Given the description of an element on the screen output the (x, y) to click on. 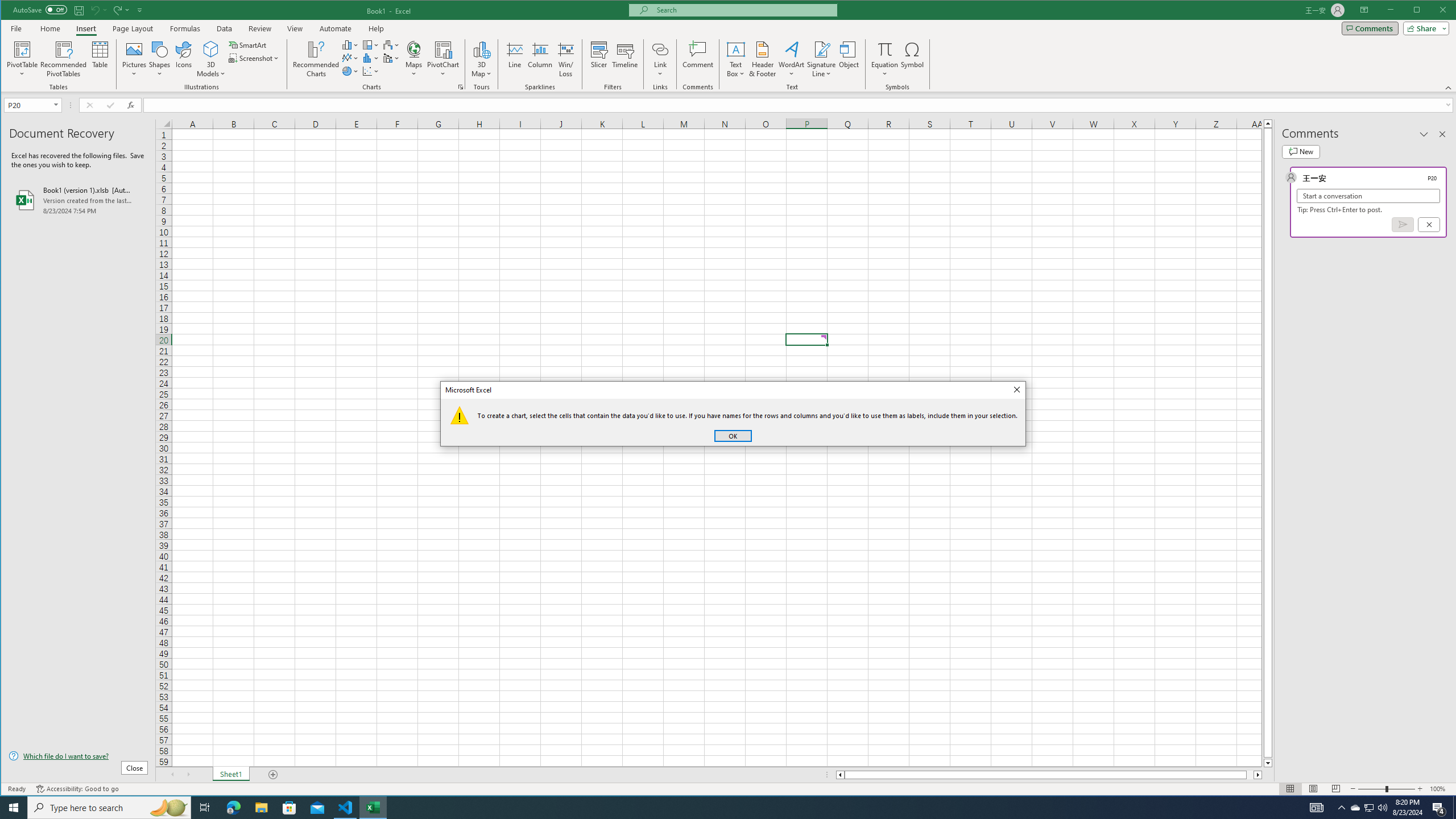
Review (259, 28)
Insert Hierarchy Chart (371, 44)
SmartArt... (248, 44)
Notification Chevron (1341, 807)
Normal (1290, 788)
User Promoted Notification Area (1368, 807)
Close pane (1441, 133)
Header & Footer... (762, 59)
Page right (1249, 774)
Cancel (1428, 224)
Object... (848, 59)
Add Sheet (272, 774)
Insert (85, 28)
